Given the description of an element on the screen output the (x, y) to click on. 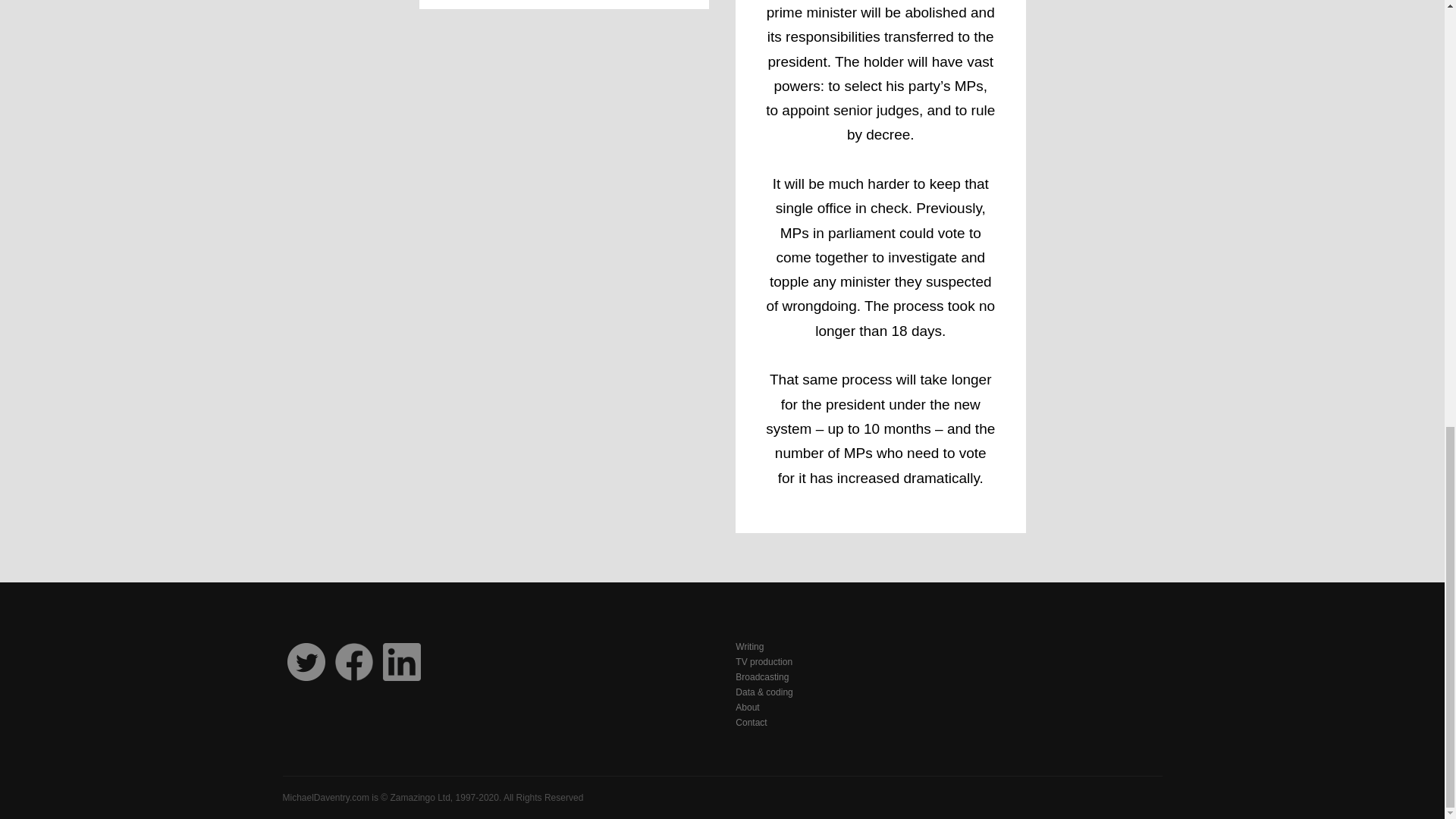
Broadcasting (947, 676)
TV production (947, 661)
Writing (947, 646)
Contact (947, 722)
About (947, 707)
